Given the description of an element on the screen output the (x, y) to click on. 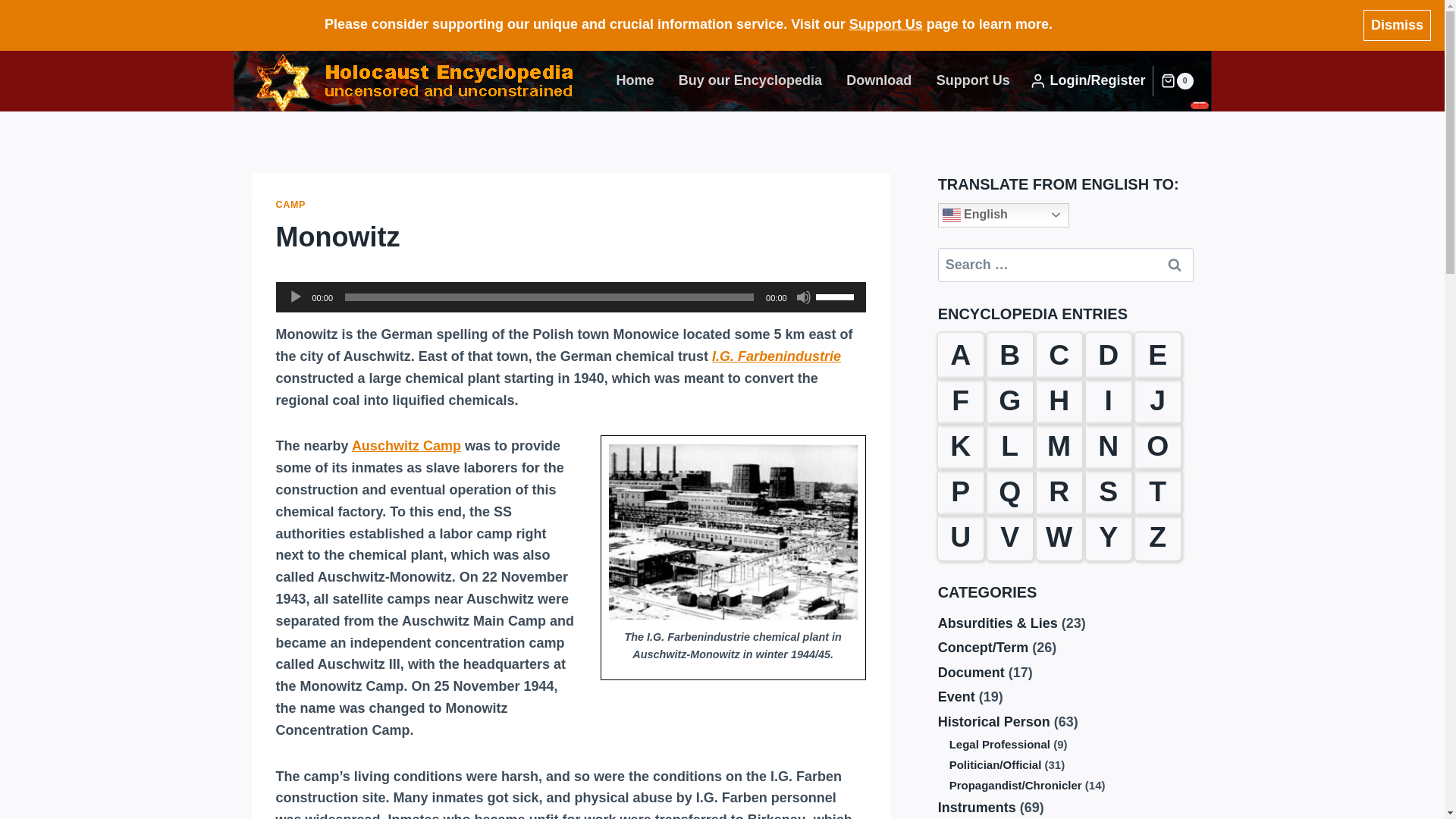
Home (634, 80)
Buy our Encyclopedia (750, 80)
Search (1174, 264)
Dismiss (1396, 25)
Search (1174, 264)
Download (878, 80)
0 (1176, 80)
Auschwitz Camp (406, 445)
CAMP (290, 204)
I.G. Farbenindustrie (776, 355)
